Given the description of an element on the screen output the (x, y) to click on. 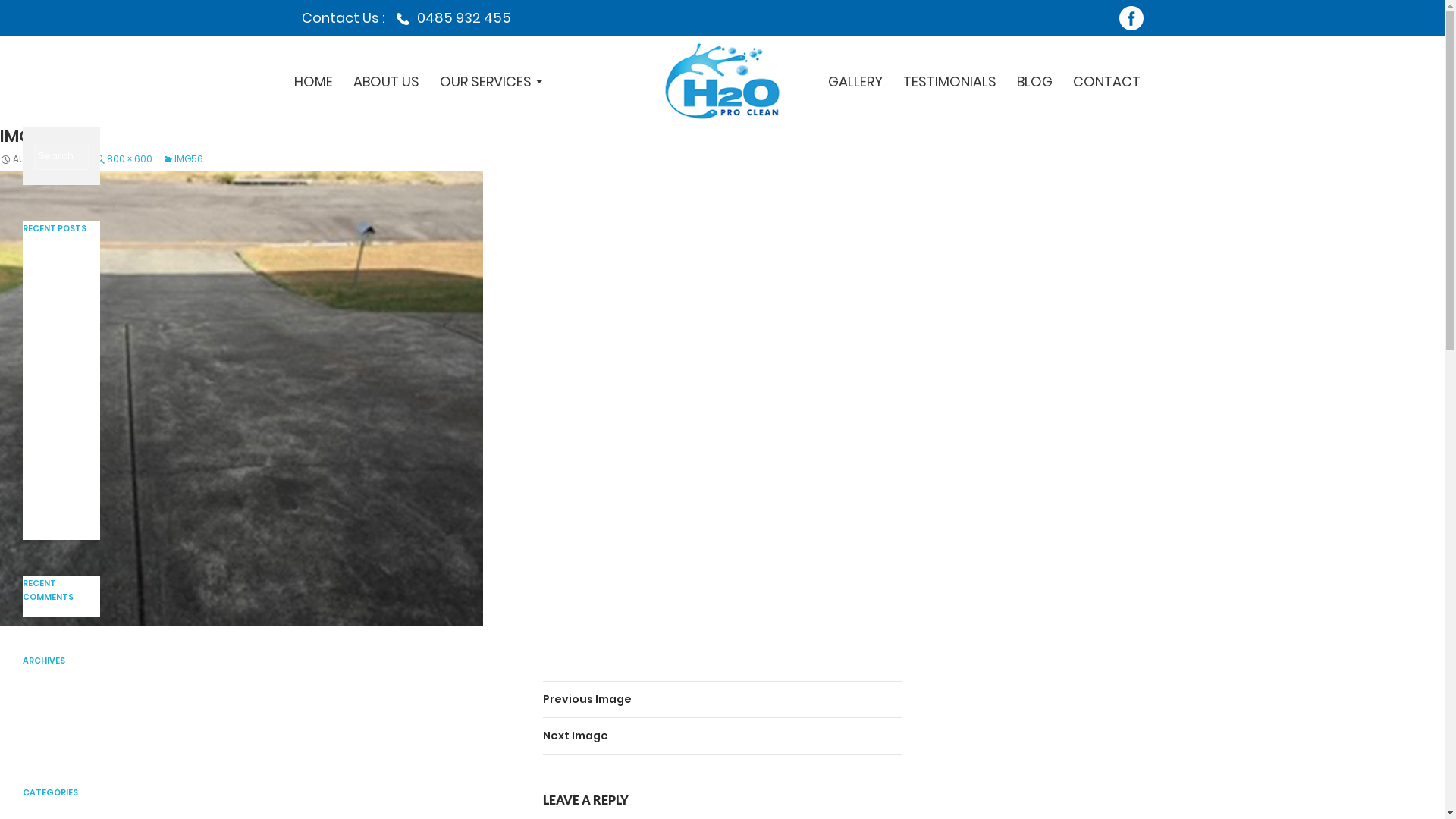
August 2023 Element type: text (51, 686)
HOME Element type: text (313, 81)
The Future of Digging Element type: text (54, 366)
Next Image Element type: text (722, 736)
SKIP TO CONTENT Element type: text (725, 35)
ABOUT US Element type: text (386, 81)
TESTIMONIALS Element type: text (949, 81)
April 2021 Element type: text (43, 705)
Previous Image Element type: text (722, 699)
GALLERY Element type: text (855, 81)
Pressure Cleaning vs. Soft Washing Element type: text (55, 327)
March 2021 Element type: text (48, 723)
Search Element type: text (30, 12)
Safety Protocols in Hydro Excavation Element type: text (51, 275)
CONTACT Element type: text (1106, 81)
OUR SERVICES Element type: text (490, 81)
February 2021 Element type: text (54, 741)
0485 932 455 Element type: text (448, 17)
BLOG Element type: text (1034, 81)
3 Pressure Cleaning Safety Tips for Beginners Element type: text (58, 412)
IMG56 Element type: text (182, 158)
